Given the description of an element on the screen output the (x, y) to click on. 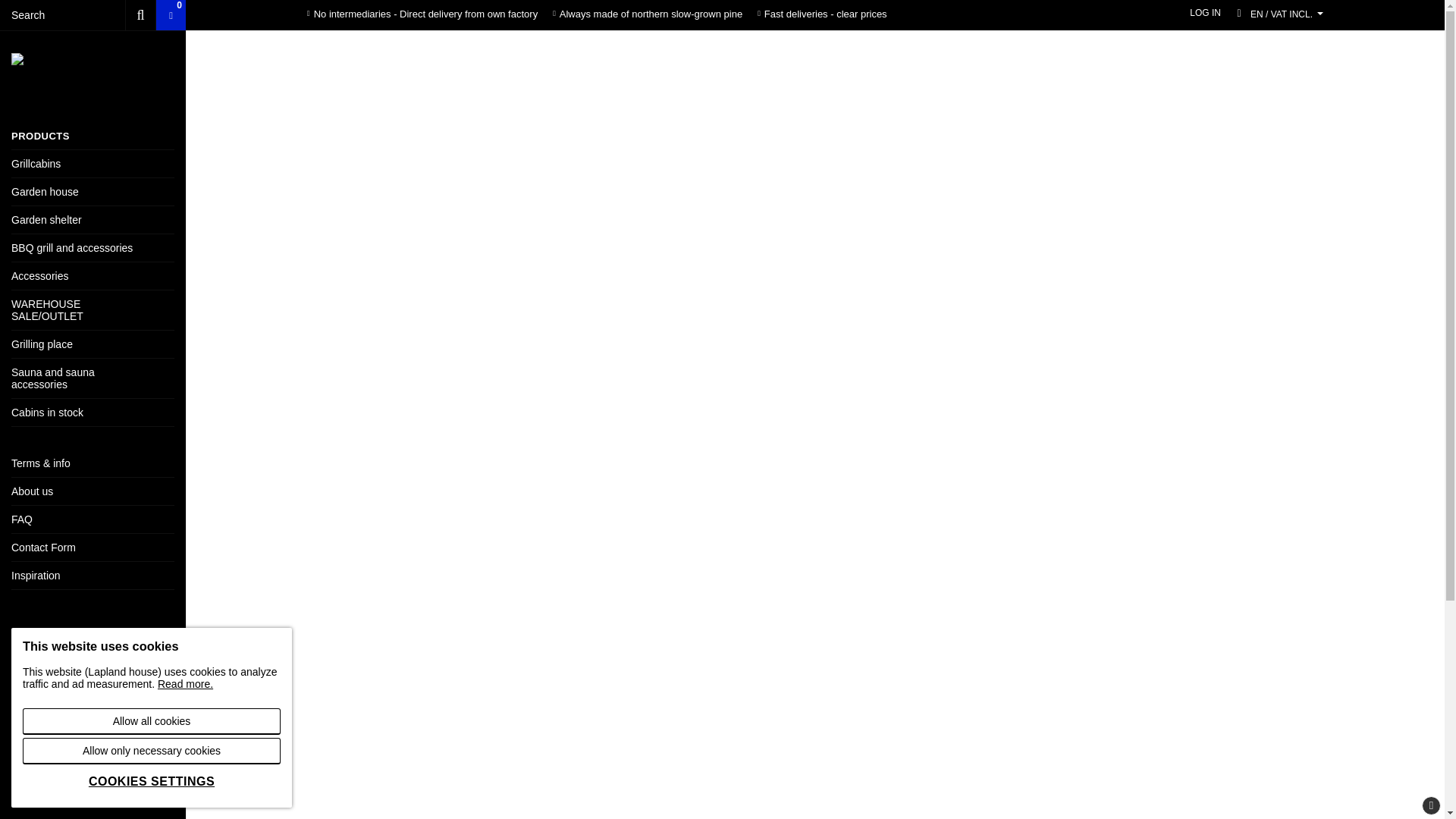
Garden shelter (92, 219)
Sauna and sauna accessories (92, 378)
Contact Form (92, 547)
Allow all cookies (152, 721)
Allow only necessary cookies (152, 750)
Inspiration (92, 574)
Cabins in stock (92, 411)
About us (92, 491)
LOG IN (1205, 12)
Grillcabins (92, 163)
COOKIES SETTINGS (152, 781)
Garden house (92, 191)
Grilling place (92, 343)
FAQ (92, 519)
BBQ grill and accessories (92, 247)
